Given the description of an element on the screen output the (x, y) to click on. 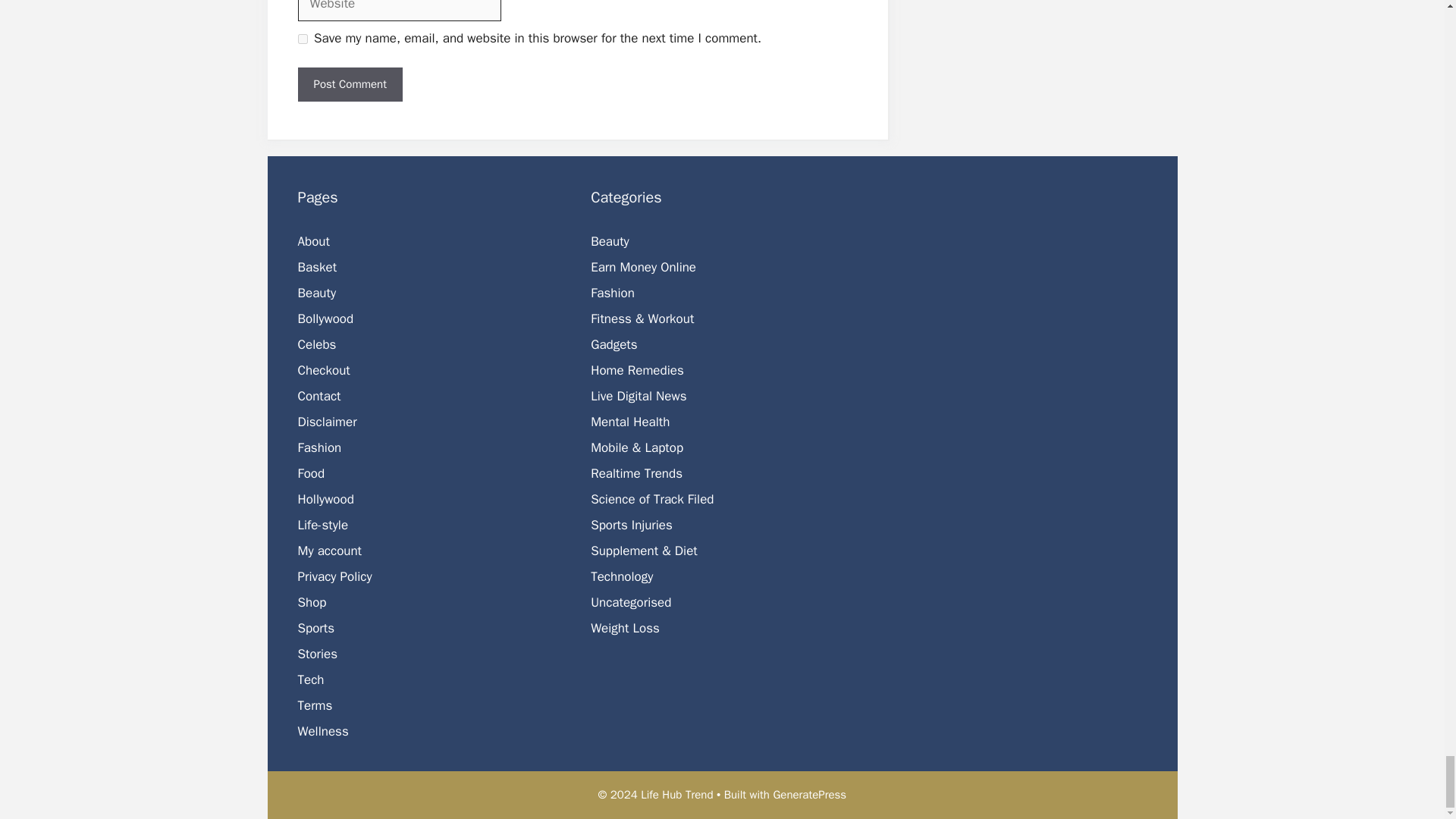
Post Comment (349, 84)
yes (302, 39)
